Given the description of an element on the screen output the (x, y) to click on. 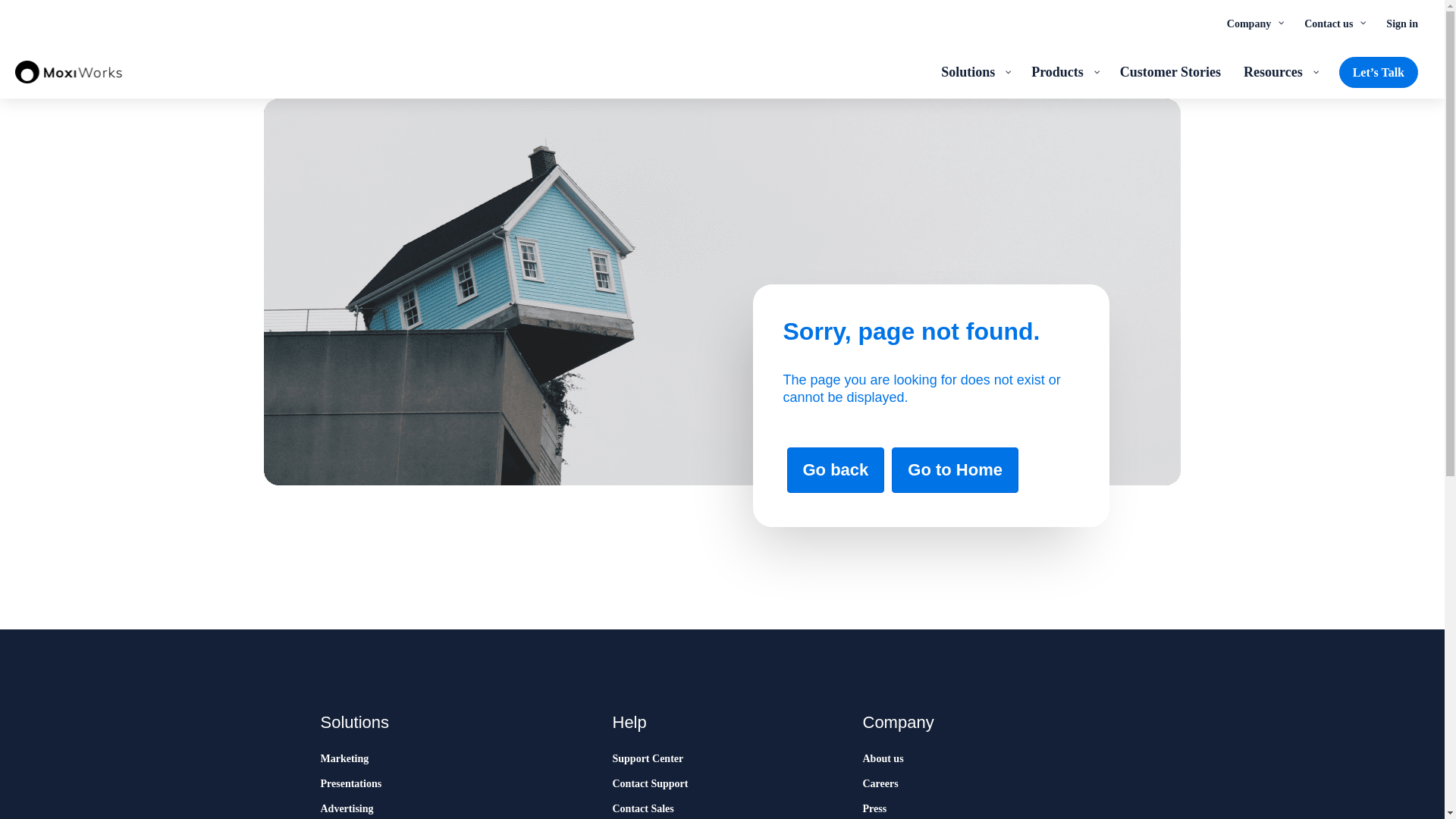
Solutions (975, 72)
Company (1253, 22)
Products (1064, 72)
Sign in (1401, 22)
Contact us (1333, 22)
